Given the description of an element on the screen output the (x, y) to click on. 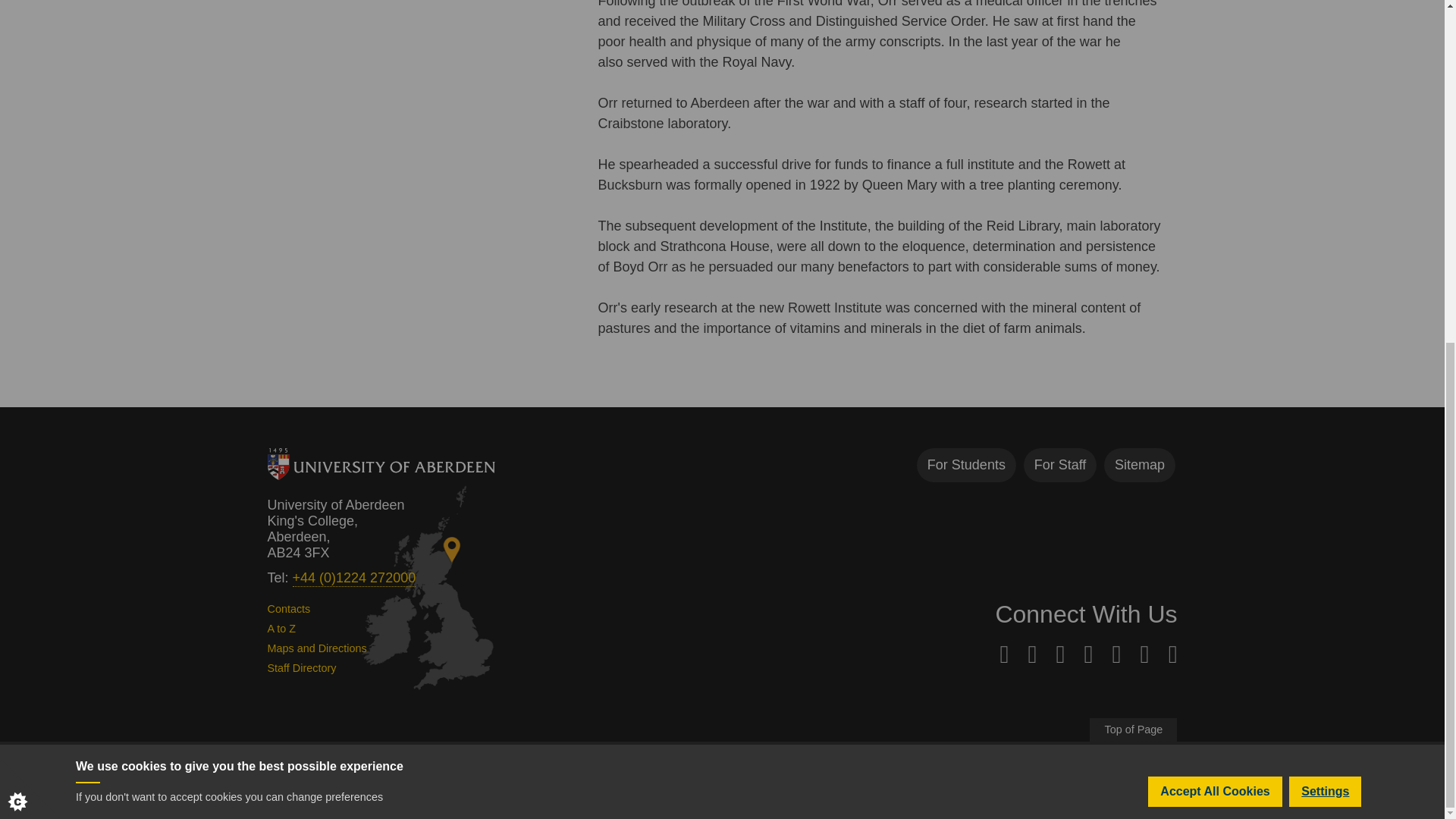
Accept All Cookies (1214, 250)
Settings (1324, 237)
